Given the description of an element on the screen output the (x, y) to click on. 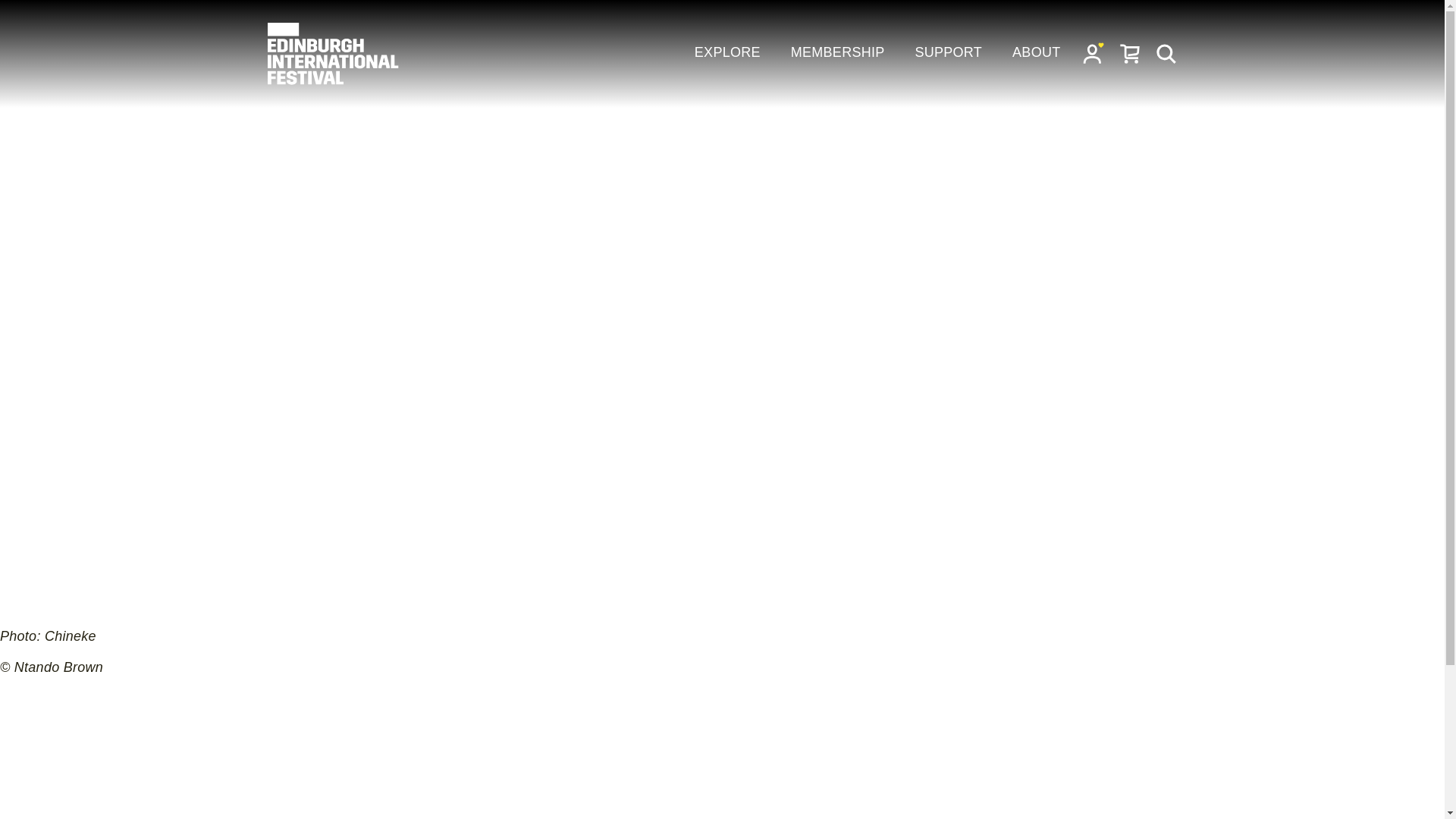
EDINBURGH INTERNATIONAL FESTIVAL (332, 53)
Account (1093, 52)
MEMBERSHIP (837, 52)
Search (1166, 52)
EXPLORE (727, 52)
ABOUT (1035, 52)
SUPPORT (947, 52)
Basket (1129, 52)
